Given the description of an element on the screen output the (x, y) to click on. 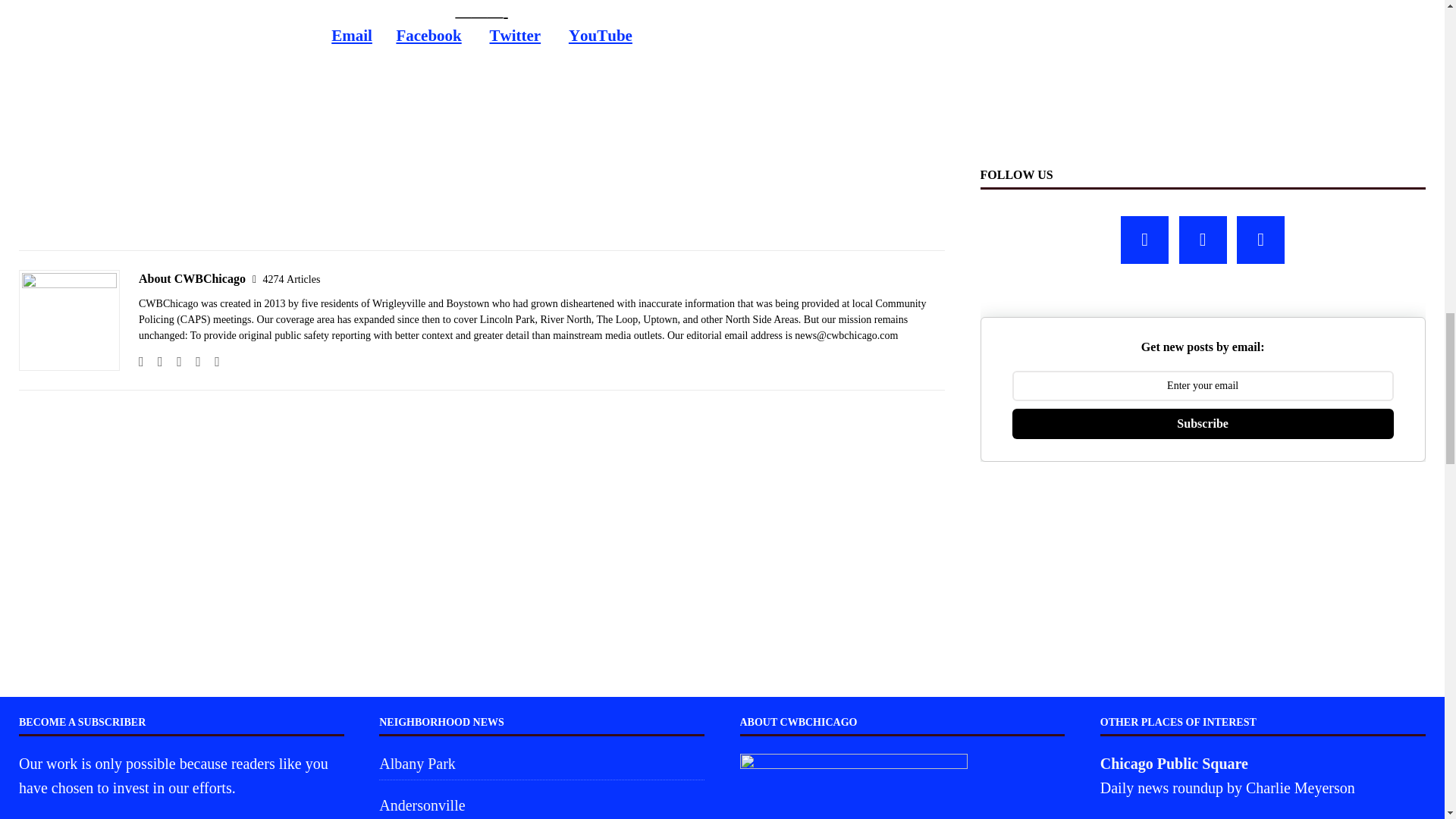
Follow CWBChicago on Instagram (173, 361)
YouTube (600, 35)
Follow CWBChicago on Facebook (155, 361)
Facebook (428, 35)
Albany Park (541, 765)
More articles written by CWBChicago' (291, 279)
Twitter (514, 35)
Subscribe (1202, 423)
Visit the website of CWBChicago (141, 361)
4274 Articles (291, 279)
Follow CWBChicago on YouTube (211, 361)
Email (351, 35)
Follow CWBChicago on Twitter (192, 361)
Andersonville (541, 804)
